Given the description of an element on the screen output the (x, y) to click on. 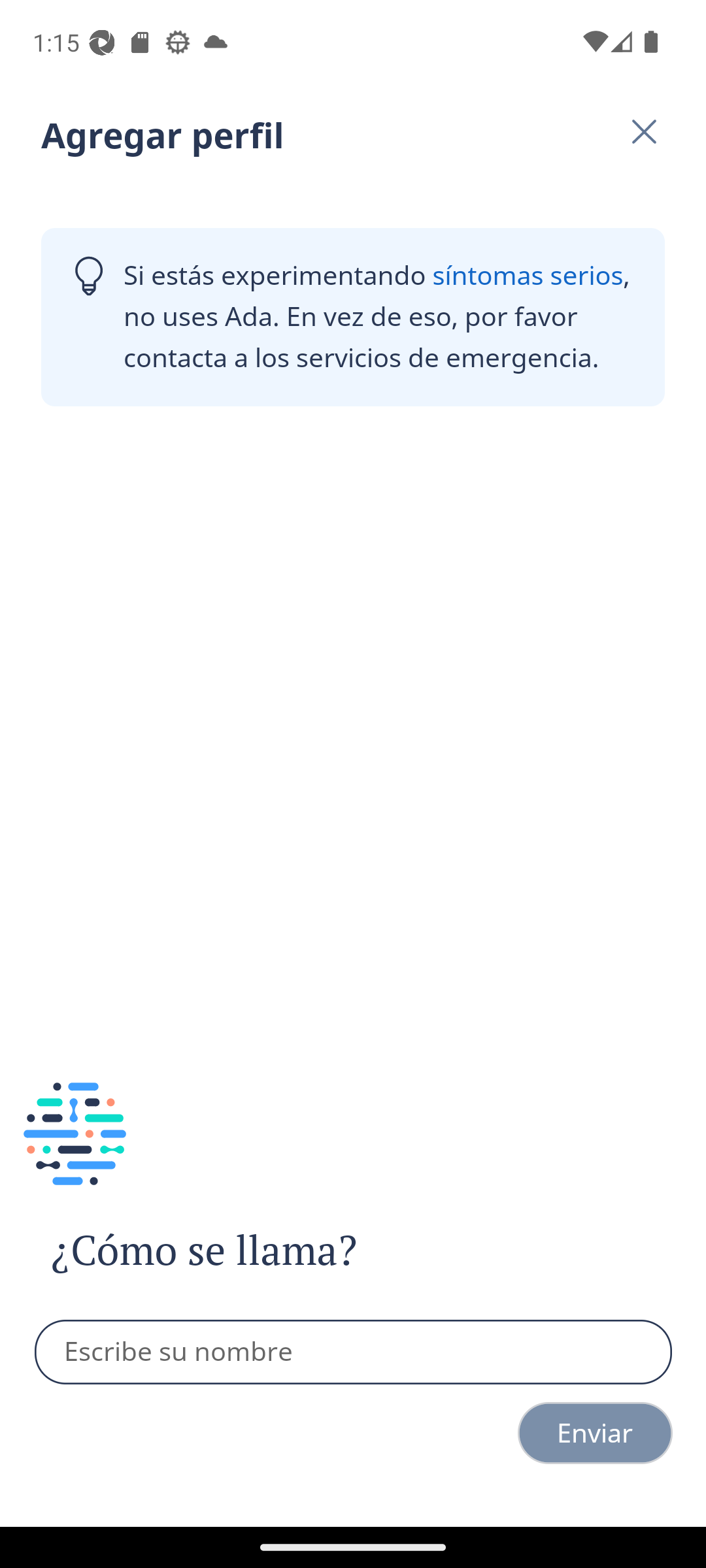
¿Cómo se llama? (240, 1250)
Escribe su nombre (353, 1352)
Enviar (594, 1432)
